Given the description of an element on the screen output the (x, y) to click on. 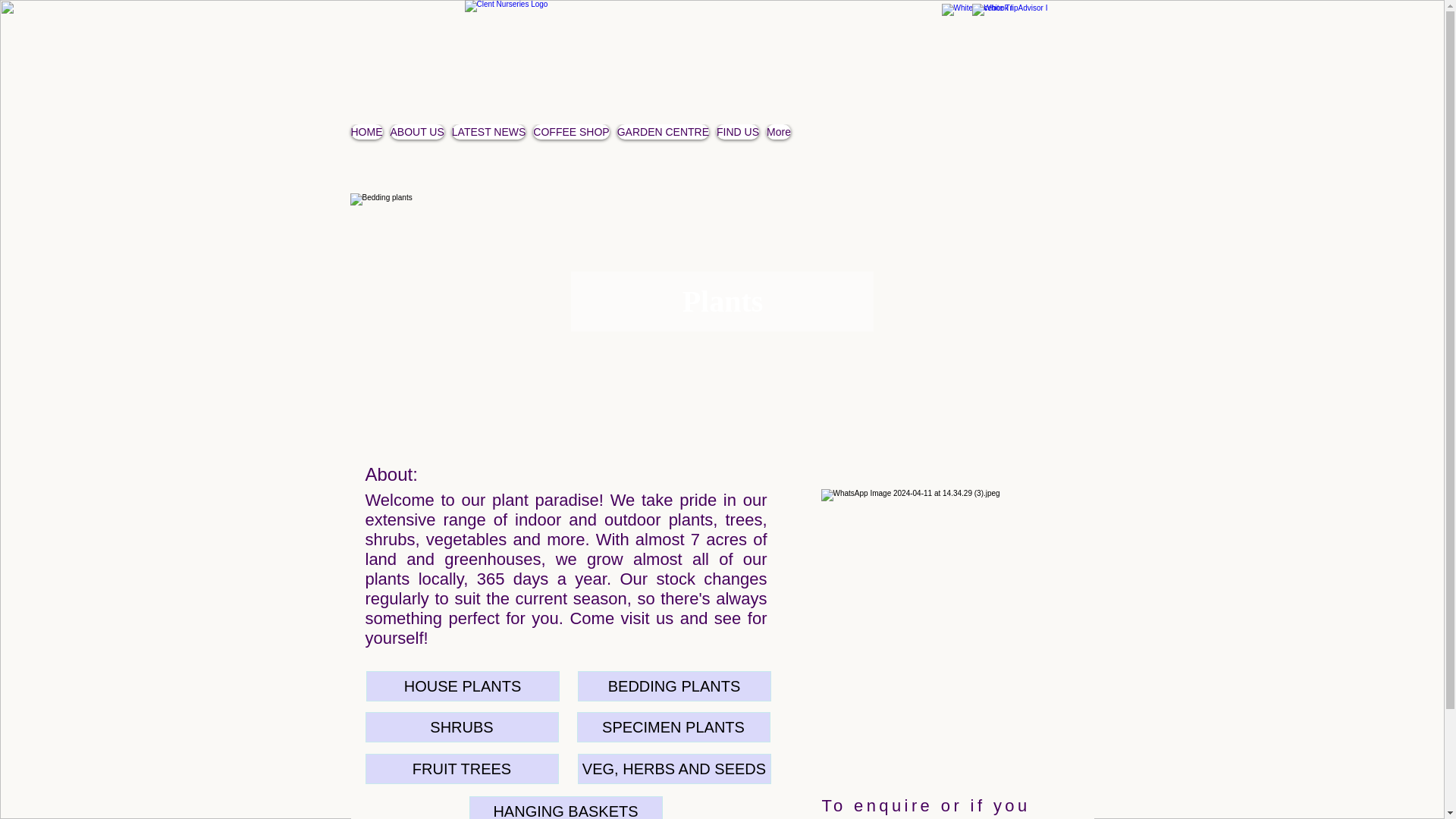
HANGING BASKETS (565, 807)
LATEST NEWS (488, 155)
BEDDING PLANTS (674, 685)
FRUIT TREES (462, 768)
VEG, HERBS AND SEEDS (674, 768)
HOUSE PLANTS (462, 685)
SPECIMEN PLANTS (673, 726)
SHRUBS (462, 726)
